Given the description of an element on the screen output the (x, y) to click on. 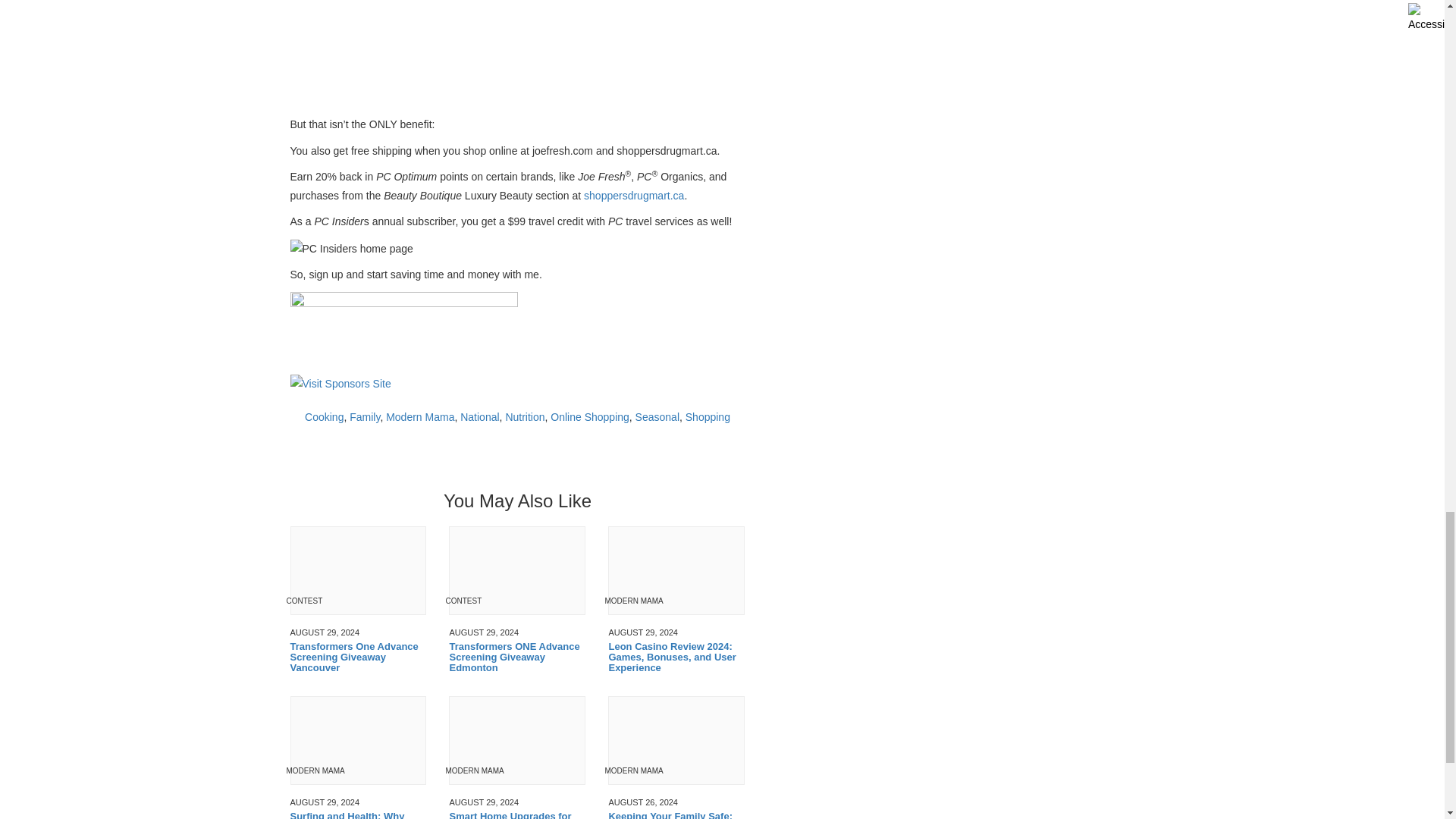
Transformers One Advance Screening Giveaway Vancouver (357, 657)
Transformers ONE Advance Screening Giveaway Edmonton (516, 657)
Smart Home Upgrades for Long-Term Peace of Mind (516, 815)
Leon Casino Review 2024: Games, Bonuses, and User Experience (676, 657)
